Given the description of an element on the screen output the (x, y) to click on. 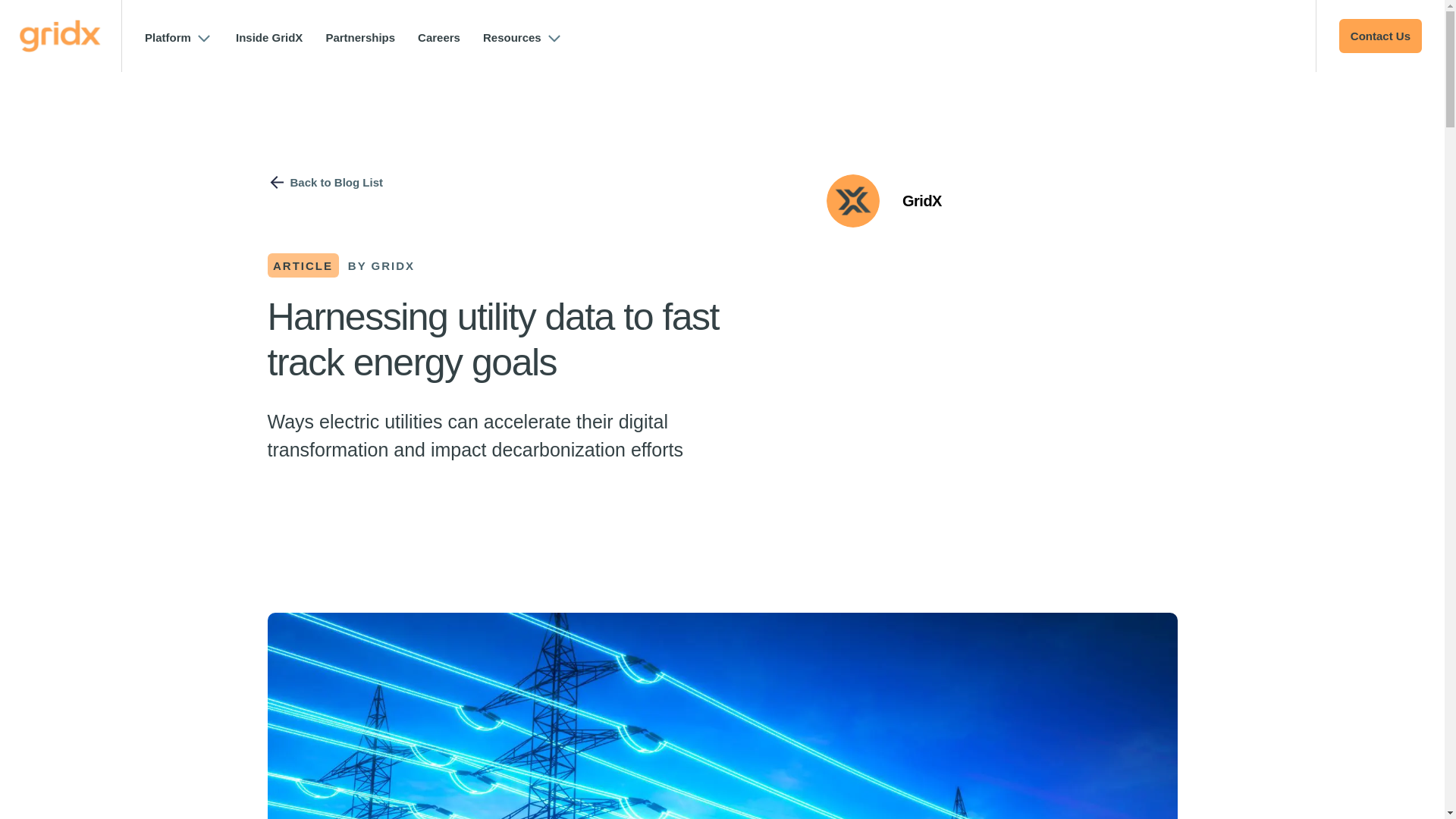
Platform (168, 37)
Inside GridX (268, 37)
Partnerships (359, 37)
Gravatar for GridX (853, 200)
